Given the description of an element on the screen output the (x, y) to click on. 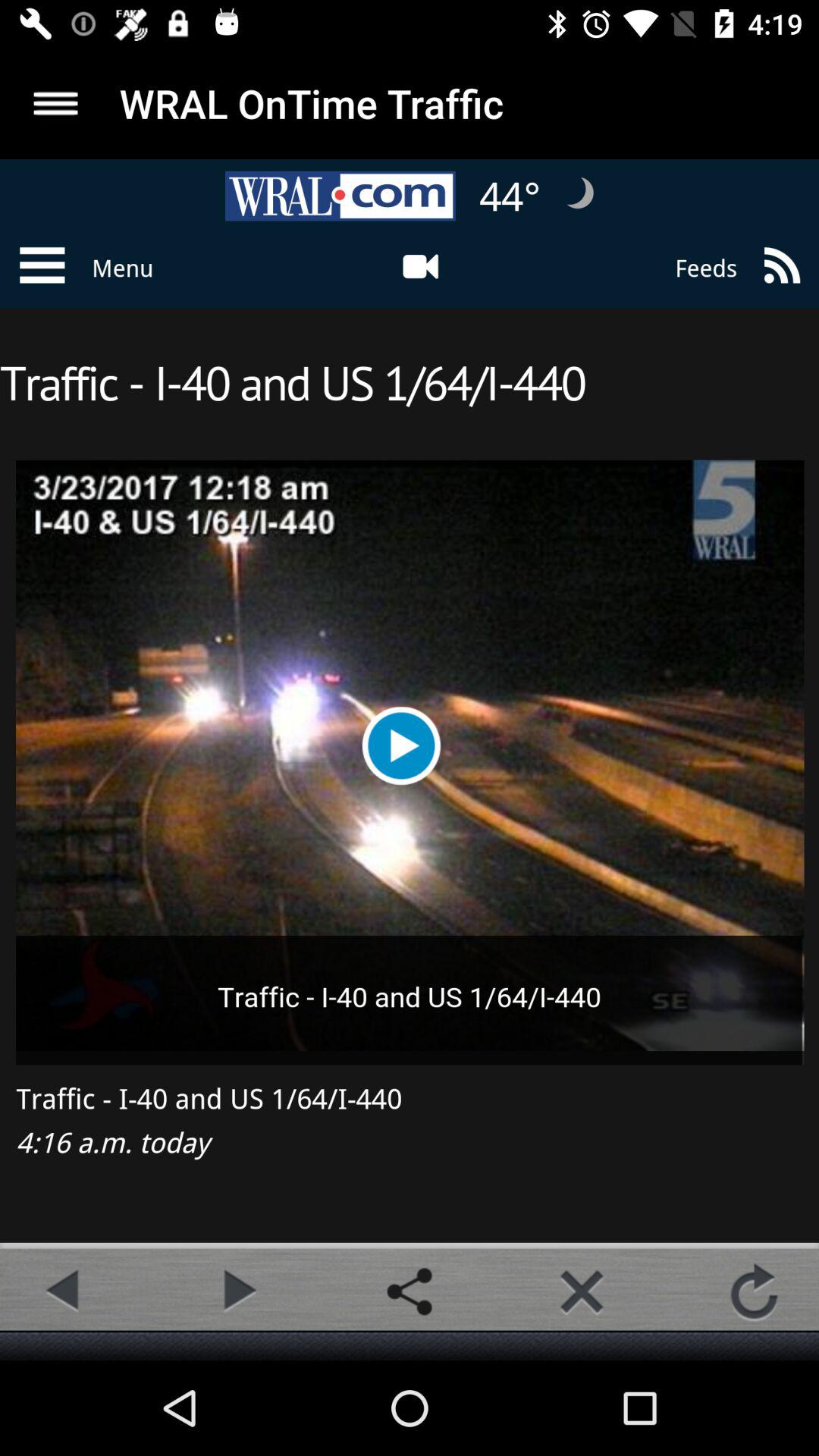
go back (64, 1291)
